Given the description of an element on the screen output the (x, y) to click on. 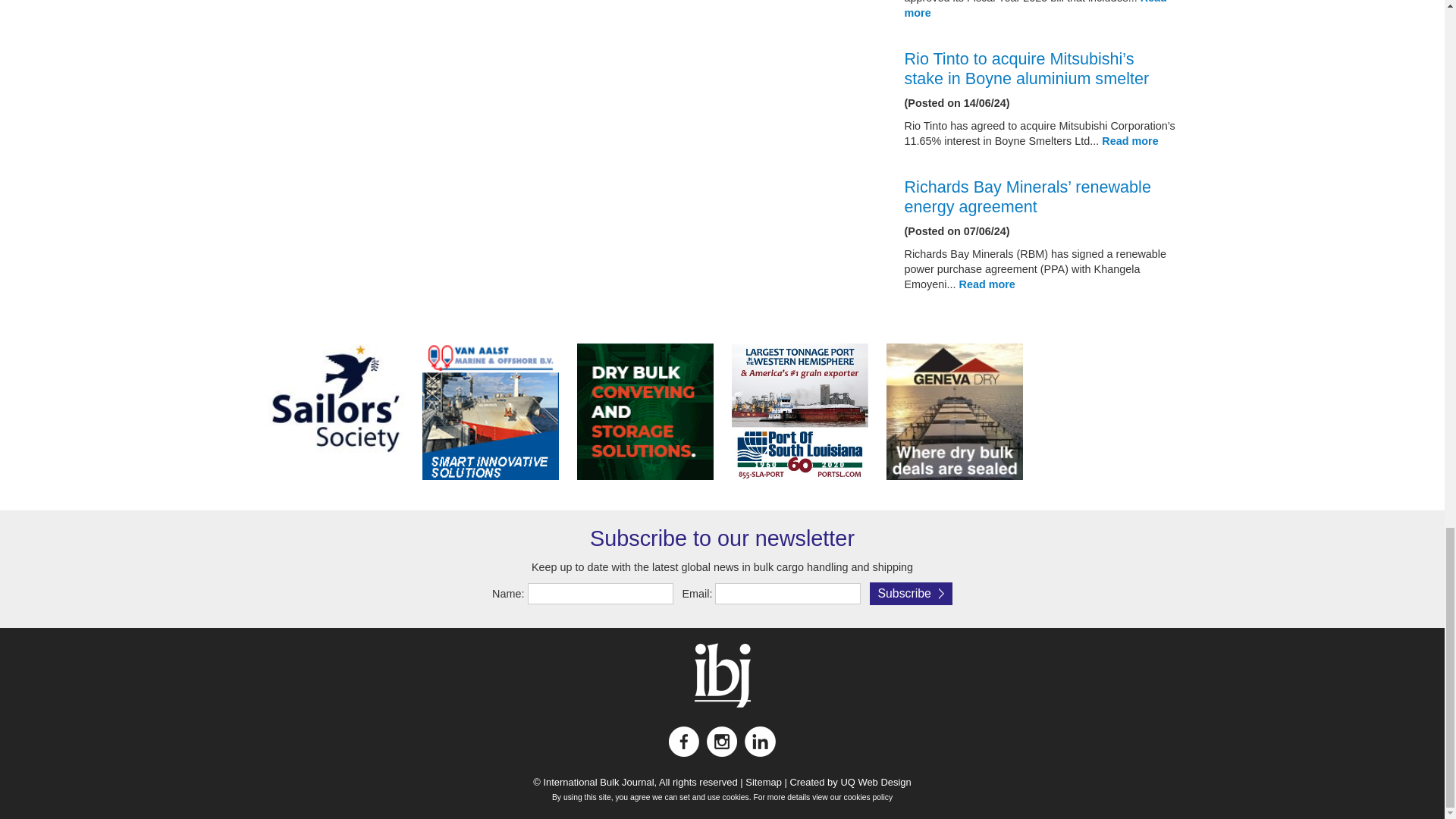
Subscribe (910, 593)
